Given the description of an element on the screen output the (x, y) to click on. 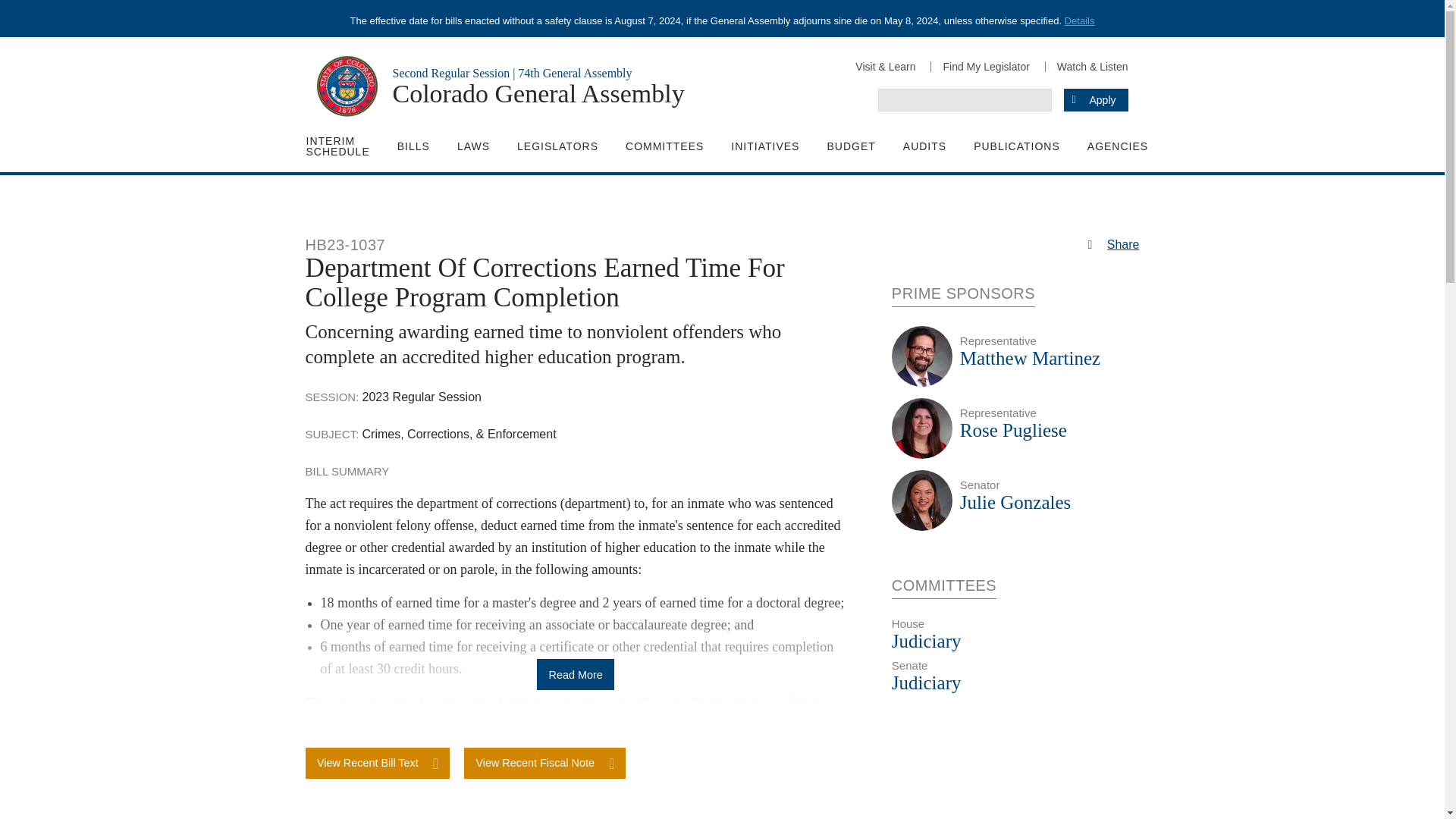
Apply (1094, 99)
Details (1079, 20)
